Given the description of an element on the screen output the (x, y) to click on. 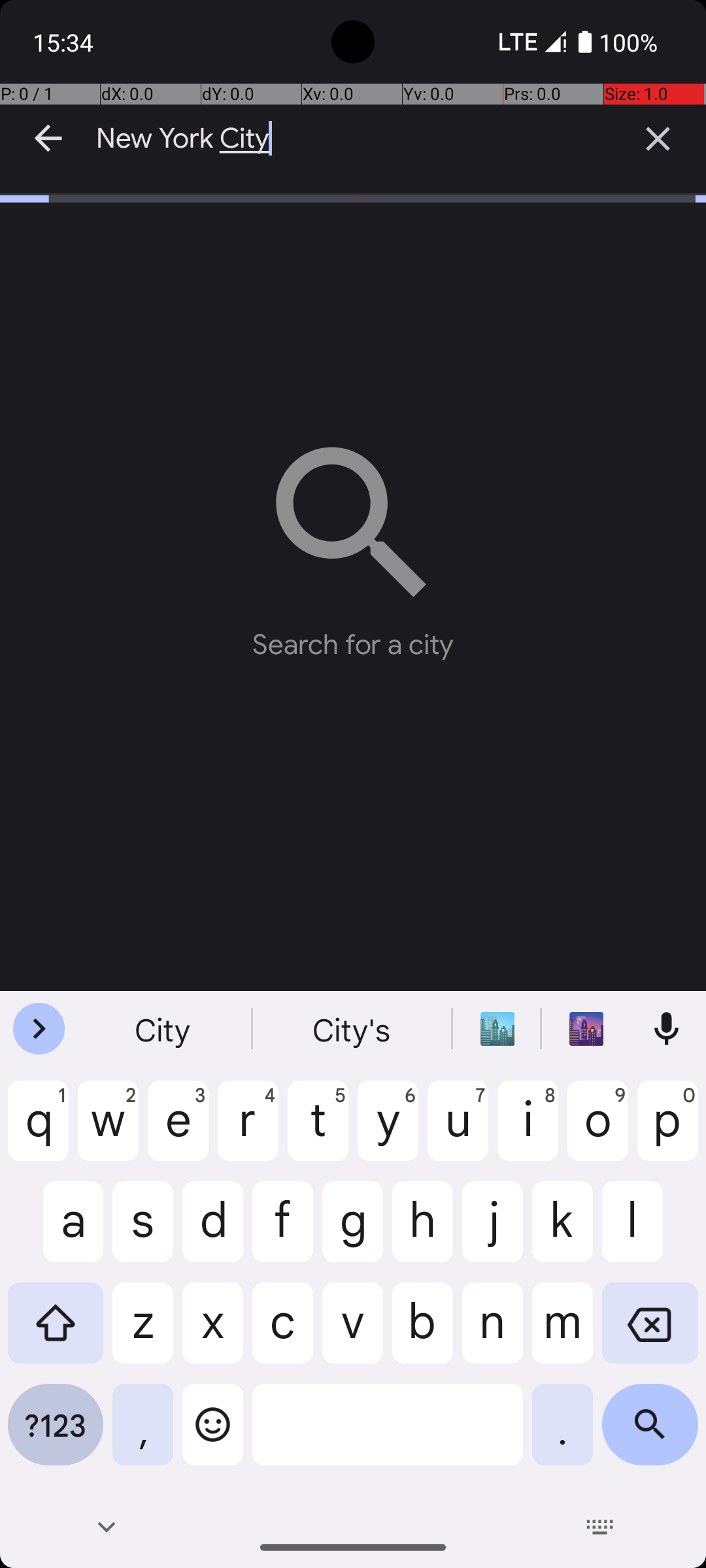
New York City Element type: android.widget.EditText (352, 138)
Clear text Element type: android.widget.ImageButton (657, 138)
Search for a city Element type: android.widget.TextView (353, 541)
City Element type: android.widget.FrameLayout (163, 1028)
City's Element type: android.widget.FrameLayout (352, 1028)
emoji 🏙️ Element type: android.widget.FrameLayout (497, 1028)
emoji 🌆 Element type: android.widget.FrameLayout (585, 1028)
